Given the description of an element on the screen output the (x, y) to click on. 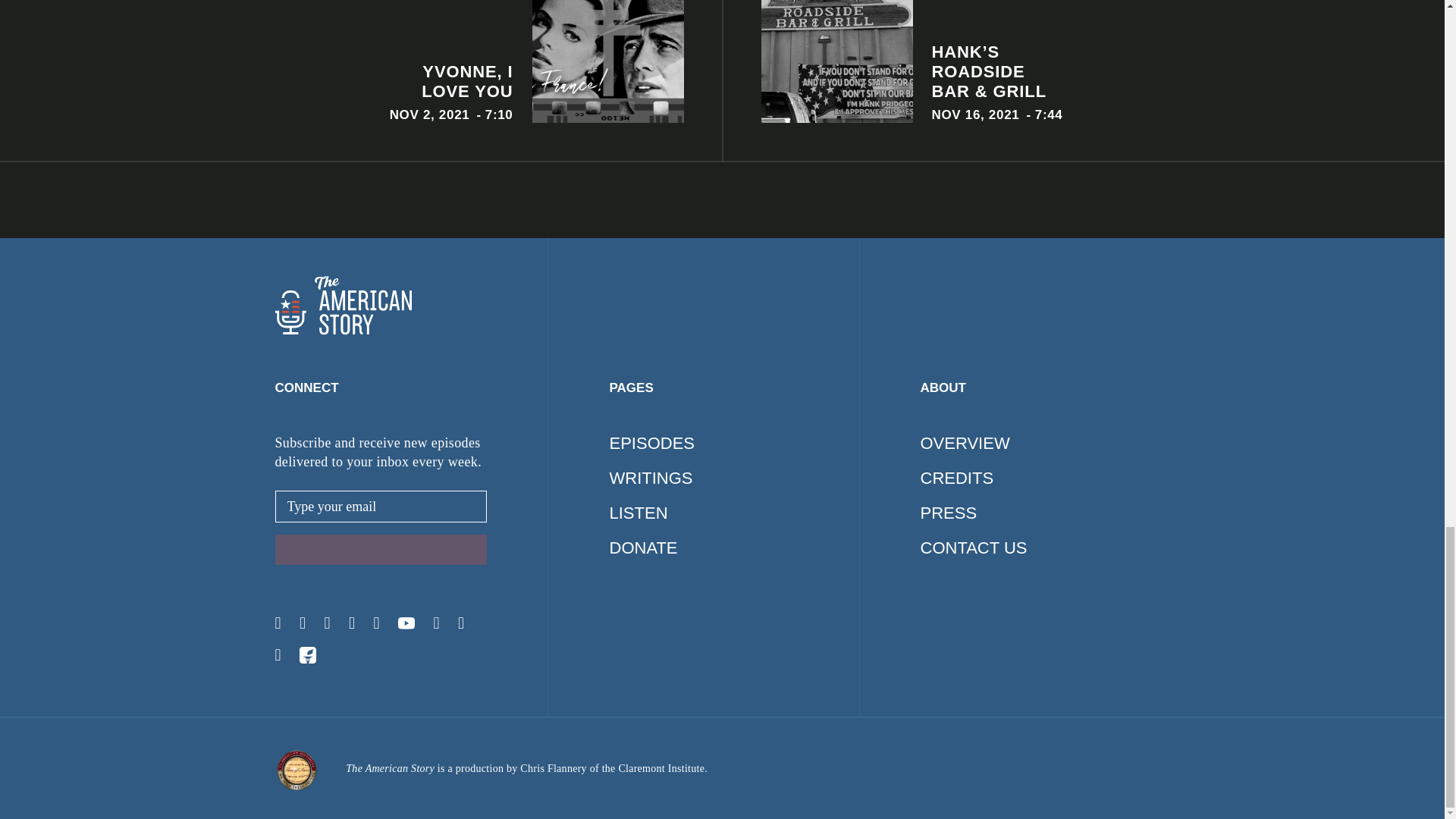
Subscribe (380, 549)
OVERVIEW (965, 443)
Subscribe (380, 549)
DONATE (644, 547)
EPISODES (652, 443)
LISTEN (361, 61)
WRITINGS (639, 512)
